Given the description of an element on the screen output the (x, y) to click on. 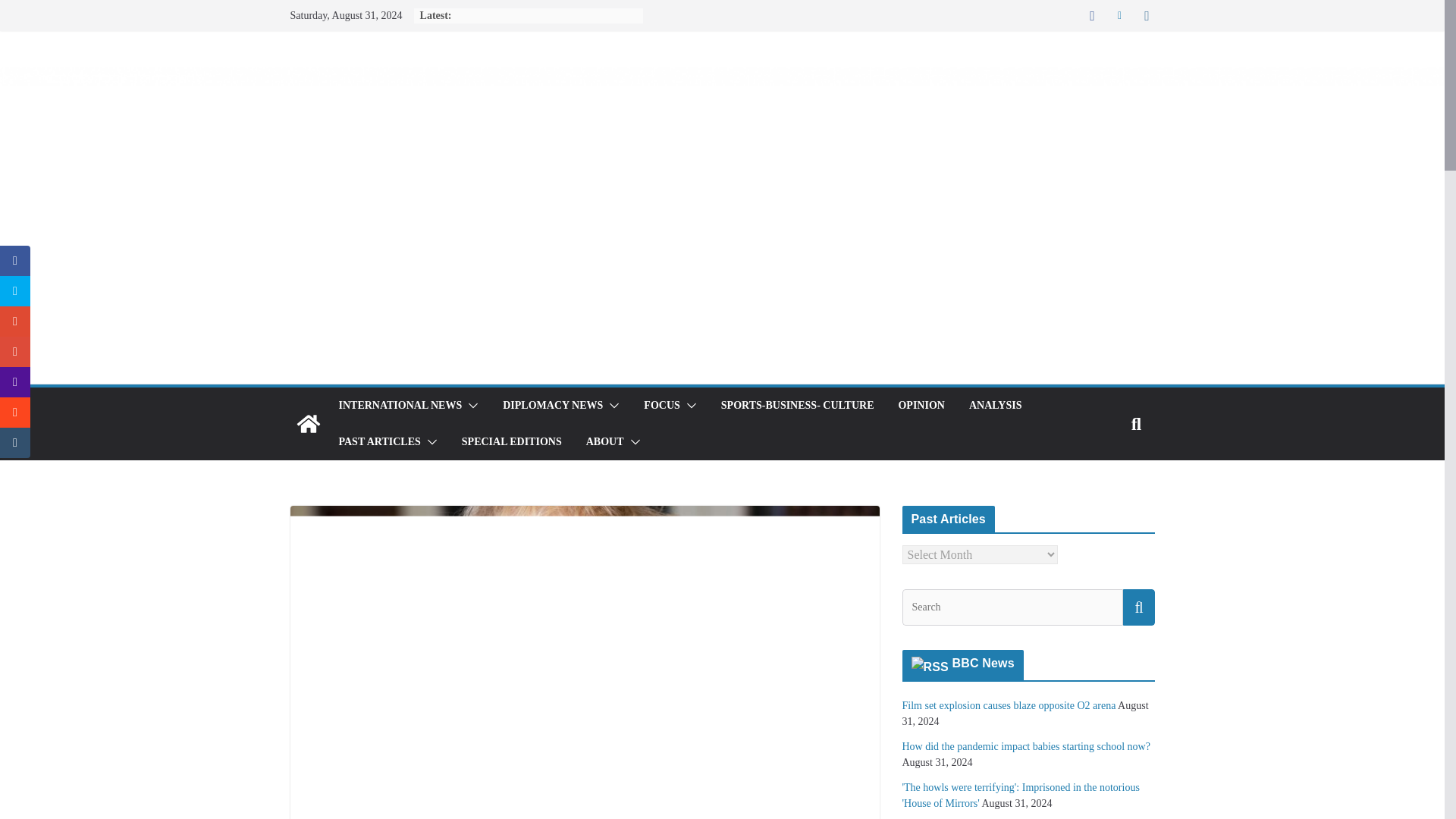
INTERNATIONAL NEWS (399, 405)
The Diplomatic Envoy (307, 423)
DIPLOMACY NEWS (552, 405)
FOCUS (661, 405)
